Given the description of an element on the screen output the (x, y) to click on. 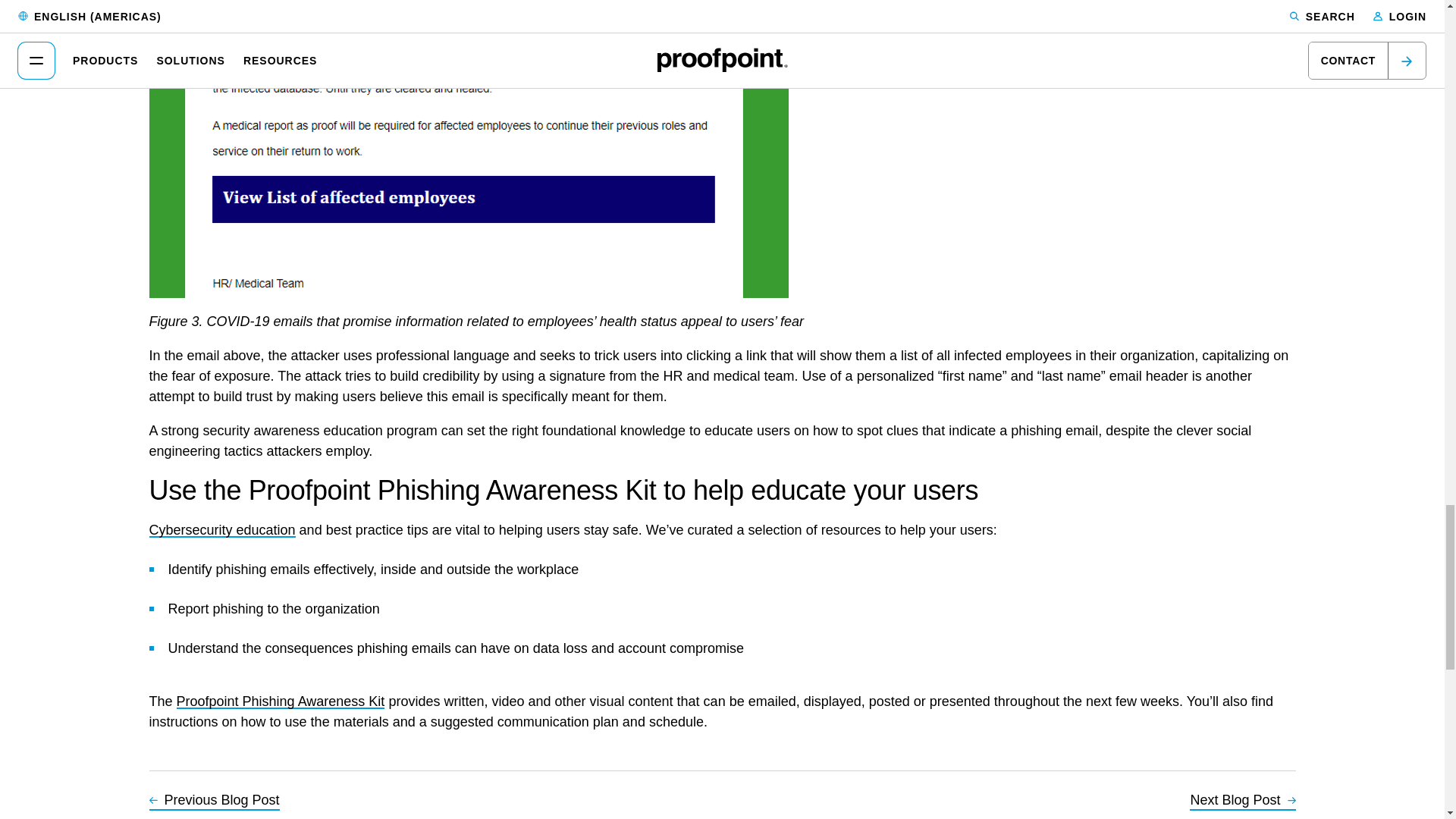
Phishing Awareness Kit (280, 701)
Proofpoint Security Awareness (221, 529)
